Given the description of an element on the screen output the (x, y) to click on. 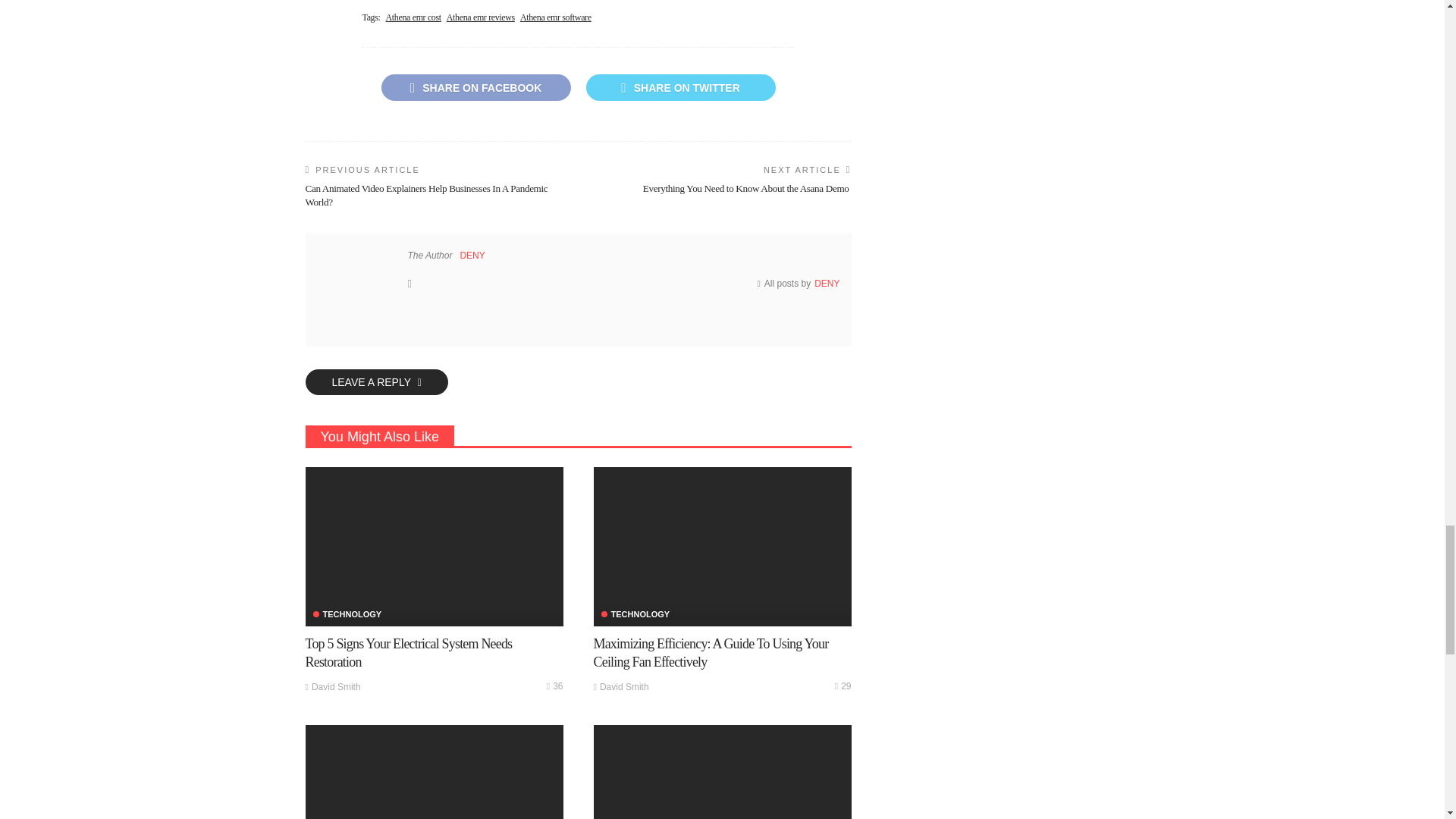
Athena emr cost (413, 17)
Athena emr reviews (480, 17)
